Given the description of an element on the screen output the (x, y) to click on. 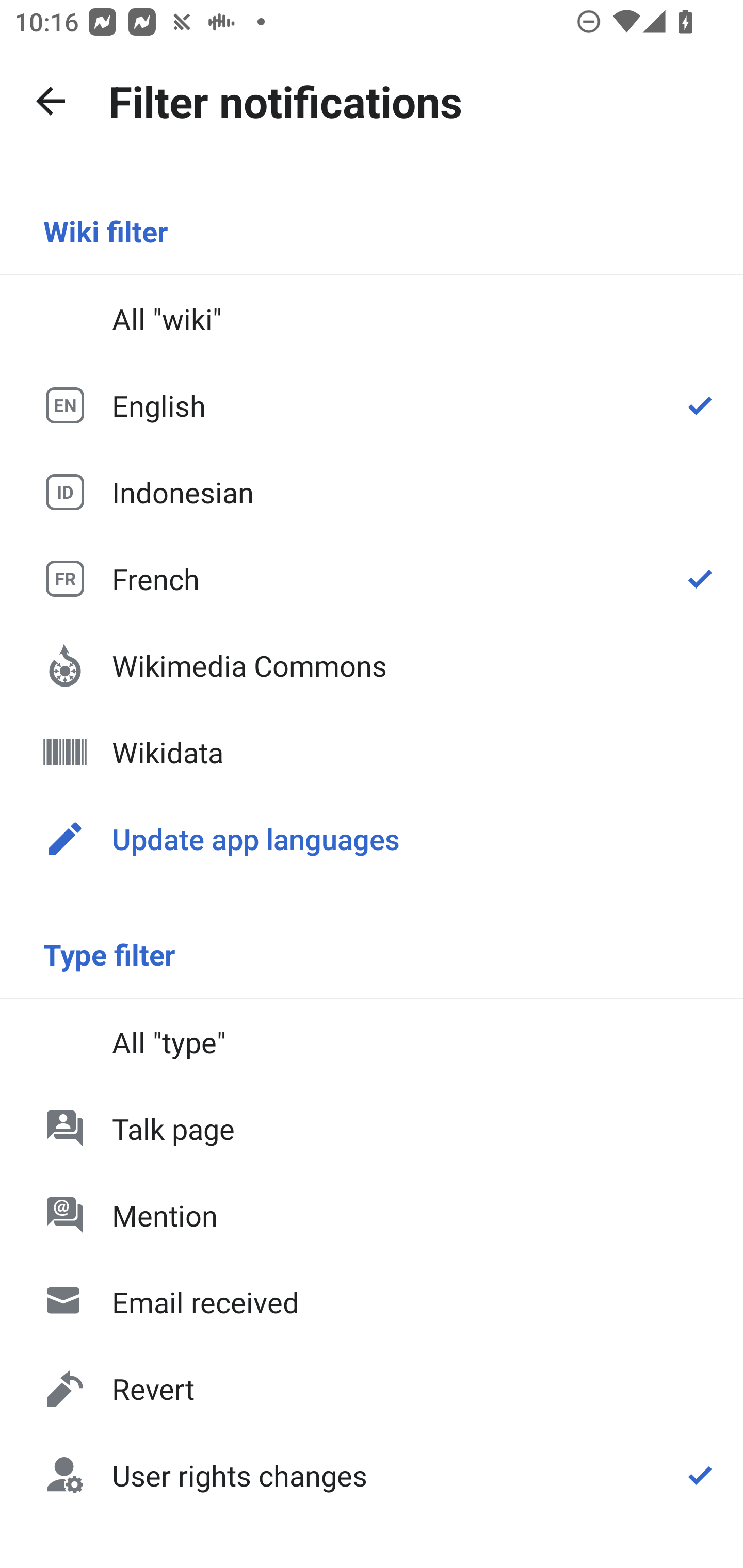
Navigate up (50, 101)
All "wiki" (371, 318)
EN English (371, 405)
ID Indonesian (371, 491)
FR French (371, 578)
Wikimedia Commons (371, 665)
Wikidata (371, 751)
Update app languages (371, 837)
All "type" (371, 1041)
Talk page (371, 1128)
Mention (371, 1215)
Email received (371, 1302)
Revert (371, 1388)
User rights changes (371, 1474)
